Given the description of an element on the screen output the (x, y) to click on. 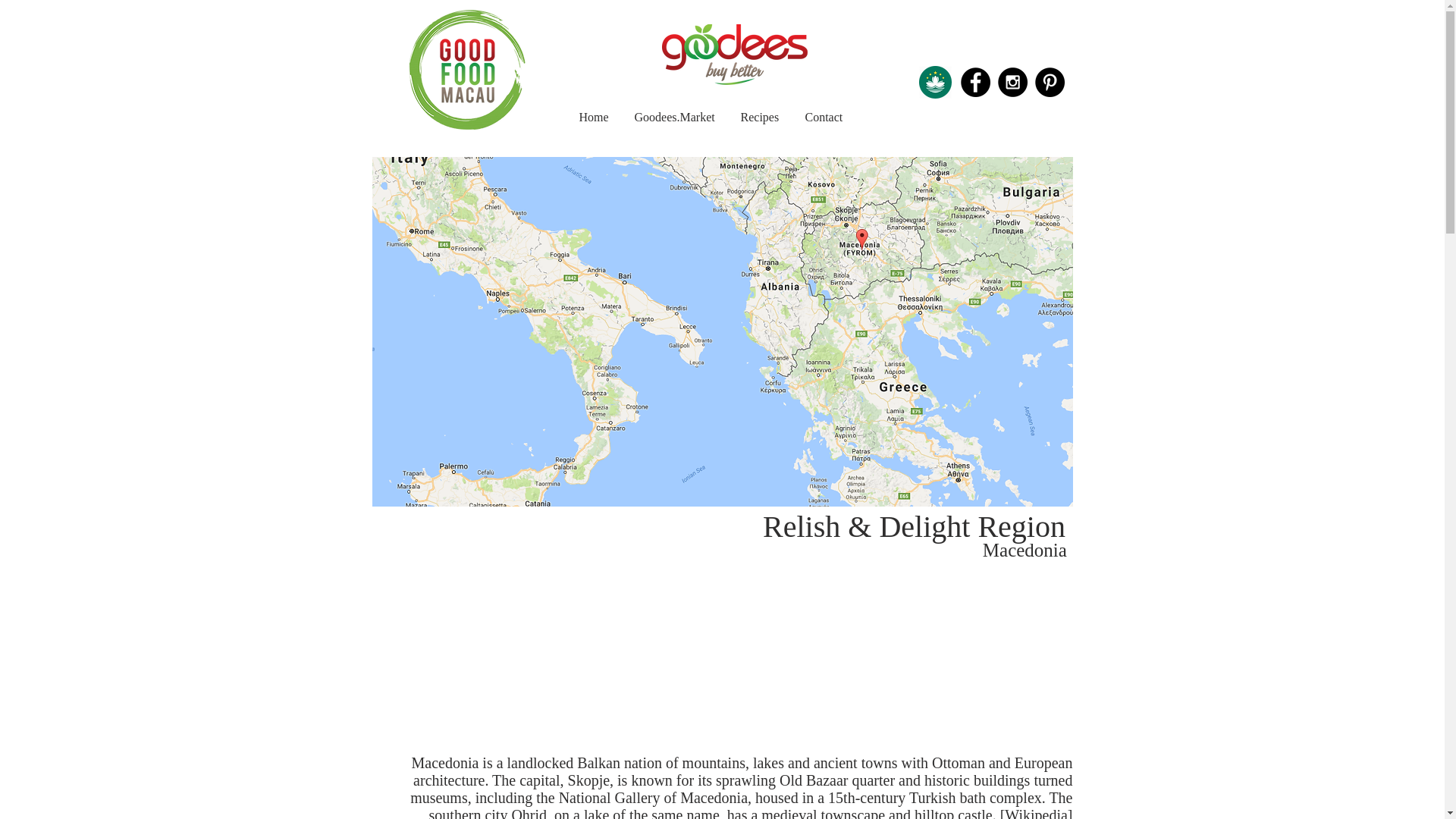
Goodees.Market (674, 117)
Recipes (760, 117)
Contact (824, 117)
Home (593, 117)
